Given the description of an element on the screen output the (x, y) to click on. 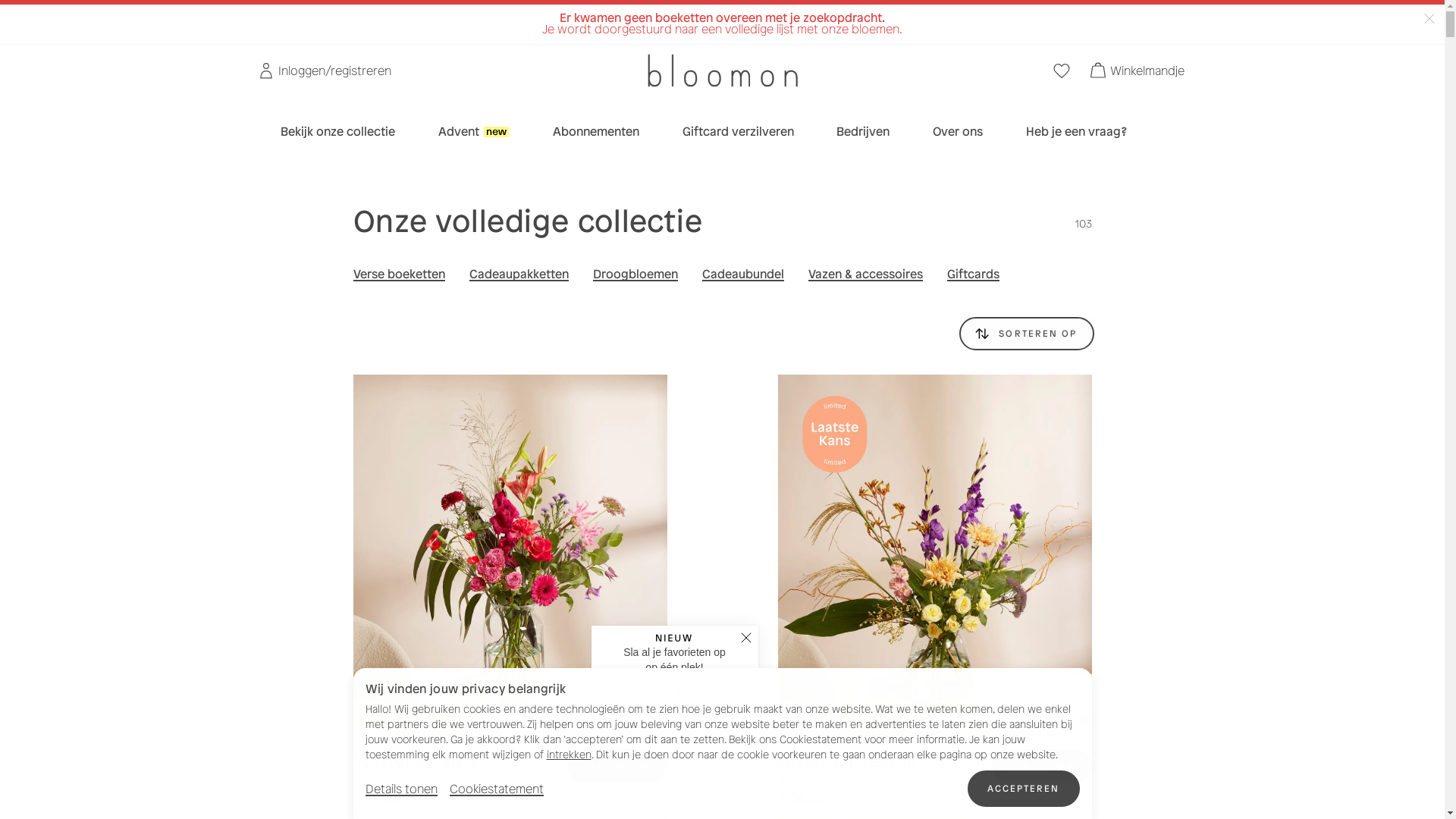
Winkelmandje Element type: text (1137, 70)
Details tonen Element type: text (401, 787)
10% korting Element type: text (649, 11)
Details tonen Element type: text (401, 789)
Giftcard verzilveren Element type: text (737, 132)
Cadeaubundel Element type: text (743, 274)
Cadeaupakketten Element type: text (517, 274)
ACCEPTEREN Element type: text (1023, 788)
Giftcards Element type: text (972, 274)
Advent Element type: text (473, 132)
VERZENDEN Element type: text (1041, 765)
Bekijk onze collectie Element type: text (337, 132)
Abonnementen Element type: text (595, 132)
VERZENDEN Element type: text (617, 765)
Over ons Element type: text (957, 132)
Verse boeketten Element type: text (399, 274)
Cookiestatement Element type: text (495, 789)
Vazen & accessoires Element type: text (865, 274)
Droogbloemen Element type: text (635, 274)
Bedrijven Element type: text (862, 132)
Inloggen/registreren Element type: text (324, 70)
Heb je een vraag? Element type: text (1076, 132)
